Given the description of an element on the screen output the (x, y) to click on. 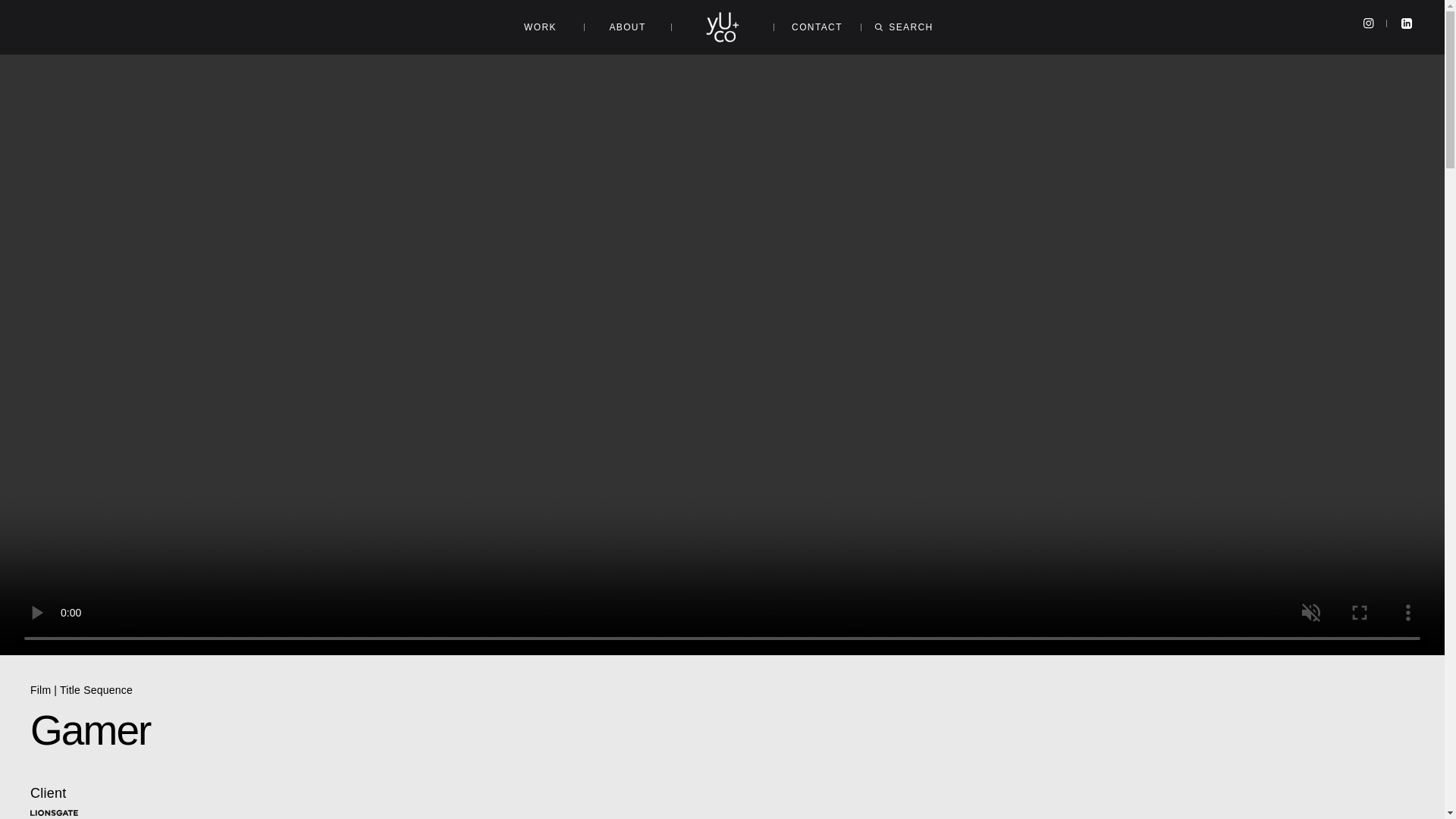
WORK (540, 27)
SEARCH (904, 27)
ABOUT (626, 27)
Contact (816, 27)
About (626, 27)
Search (904, 27)
Work (540, 27)
CONTACT (816, 27)
